Given the description of an element on the screen output the (x, y) to click on. 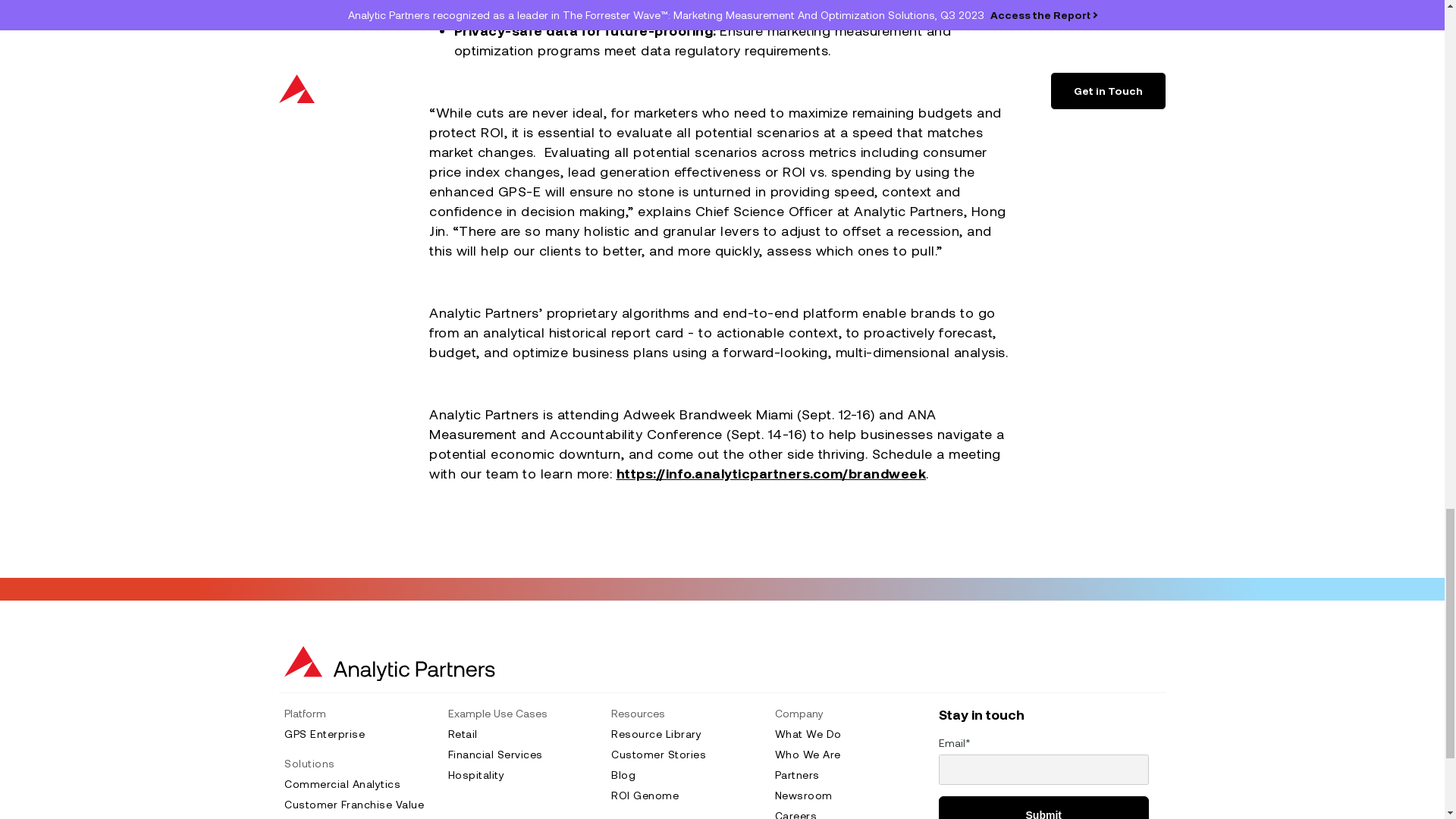
Submit (1044, 807)
